Given the description of an element on the screen output the (x, y) to click on. 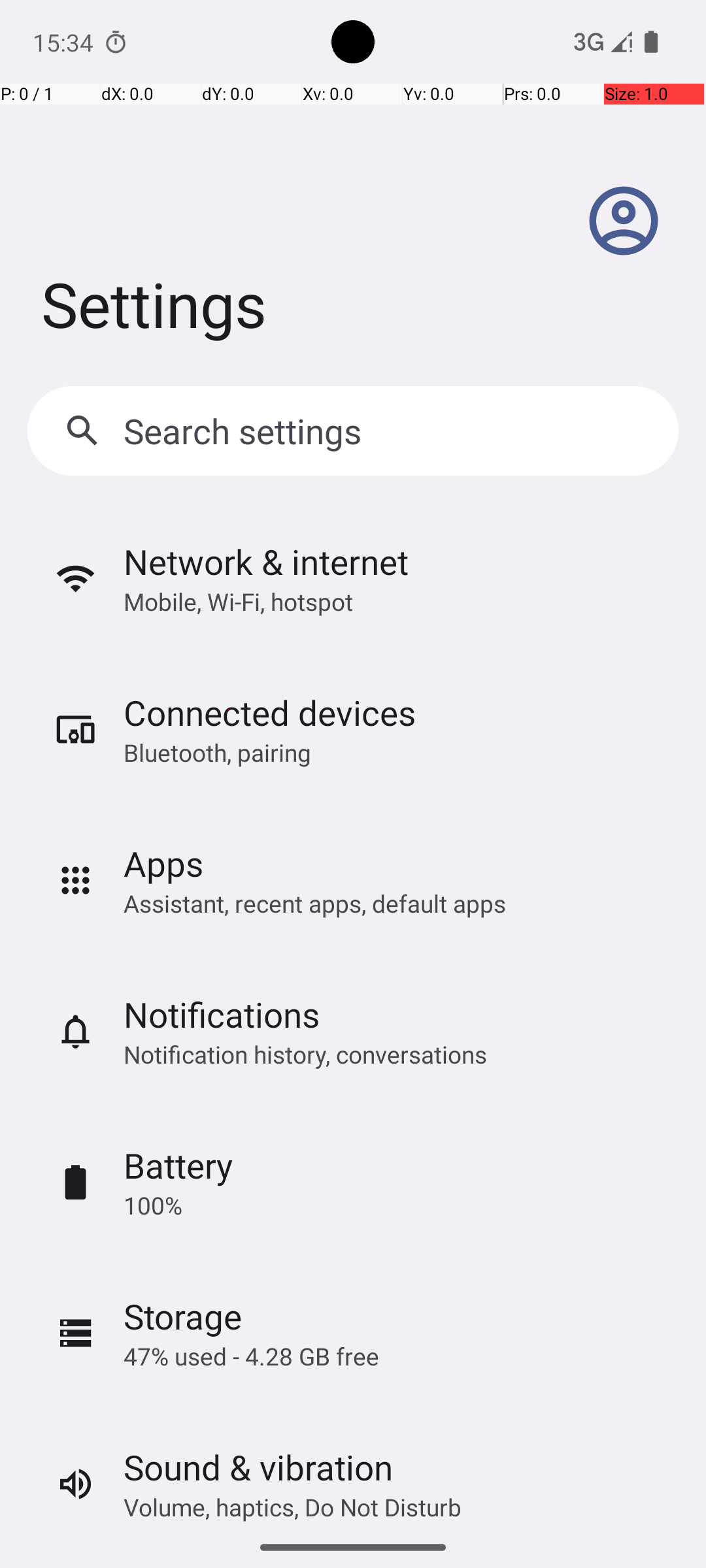
47% used - 4.28 GB free Element type: android.widget.TextView (251, 1355)
